Given the description of an element on the screen output the (x, y) to click on. 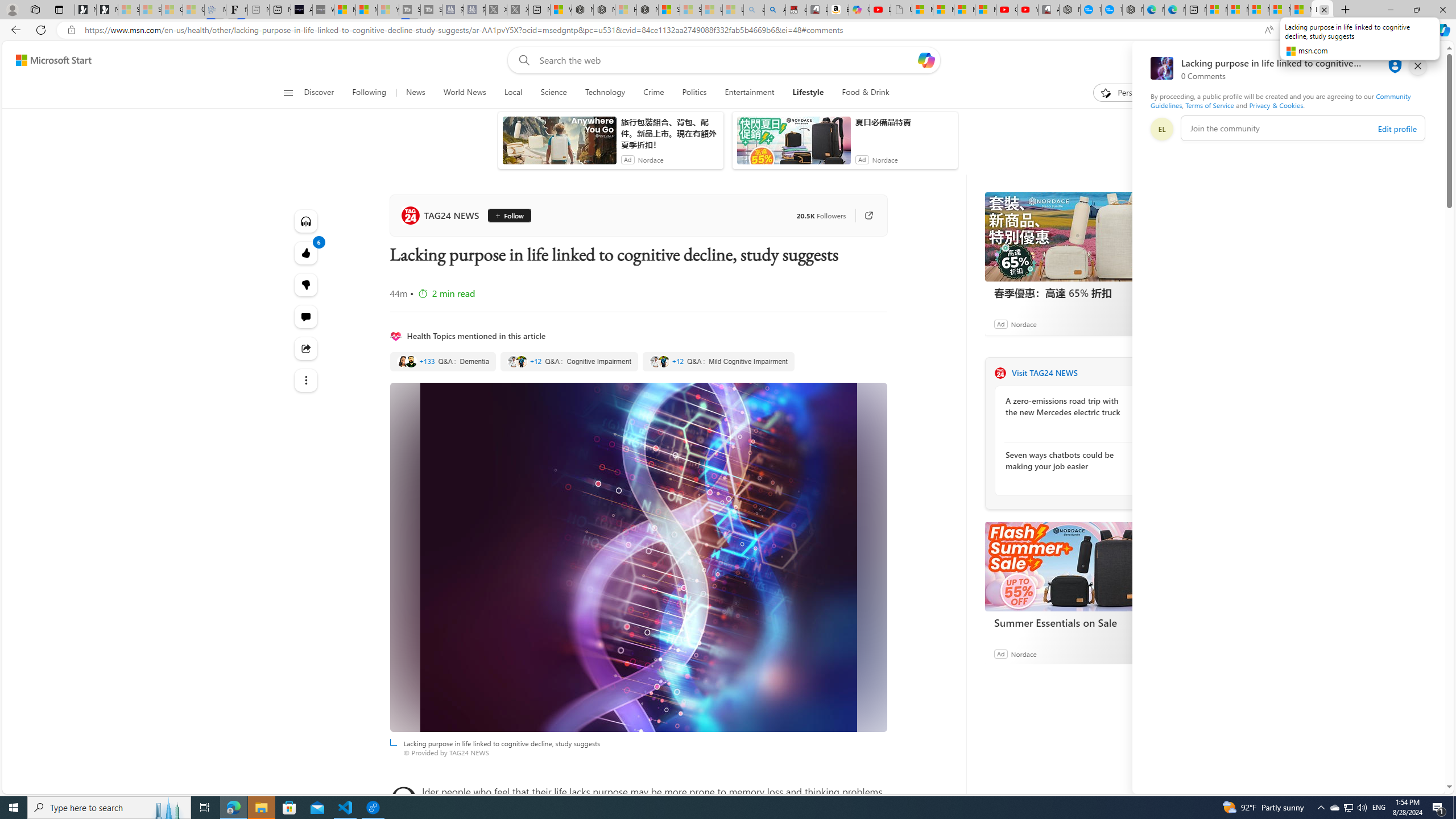
World News (464, 92)
Politics (694, 92)
Lifestyle (807, 92)
Nordace - My Account (1069, 9)
Technology (605, 92)
